Given the description of an element on the screen output the (x, y) to click on. 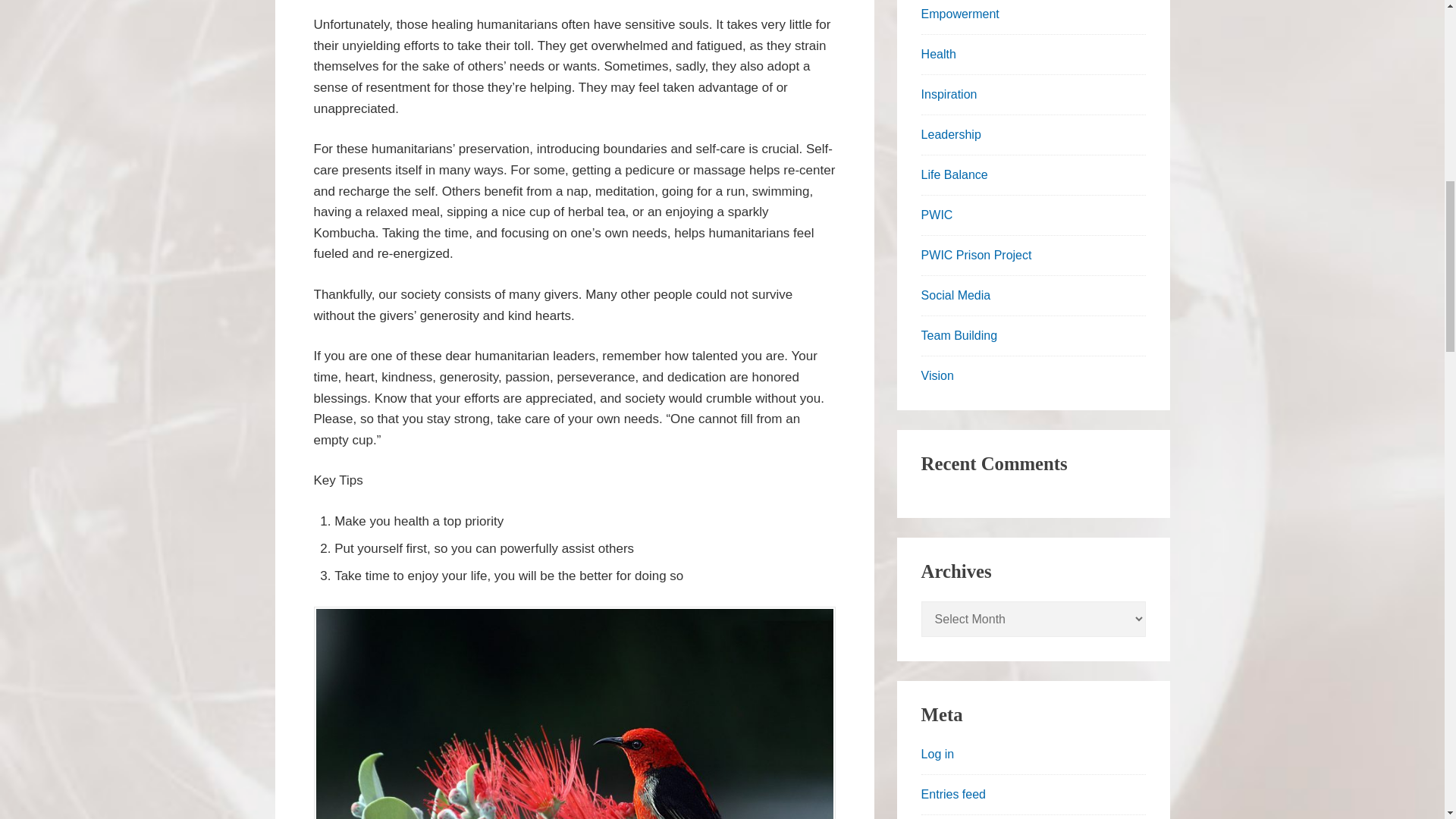
Health (938, 53)
Inspiration (948, 93)
Empowerment (959, 13)
